Given the description of an element on the screen output the (x, y) to click on. 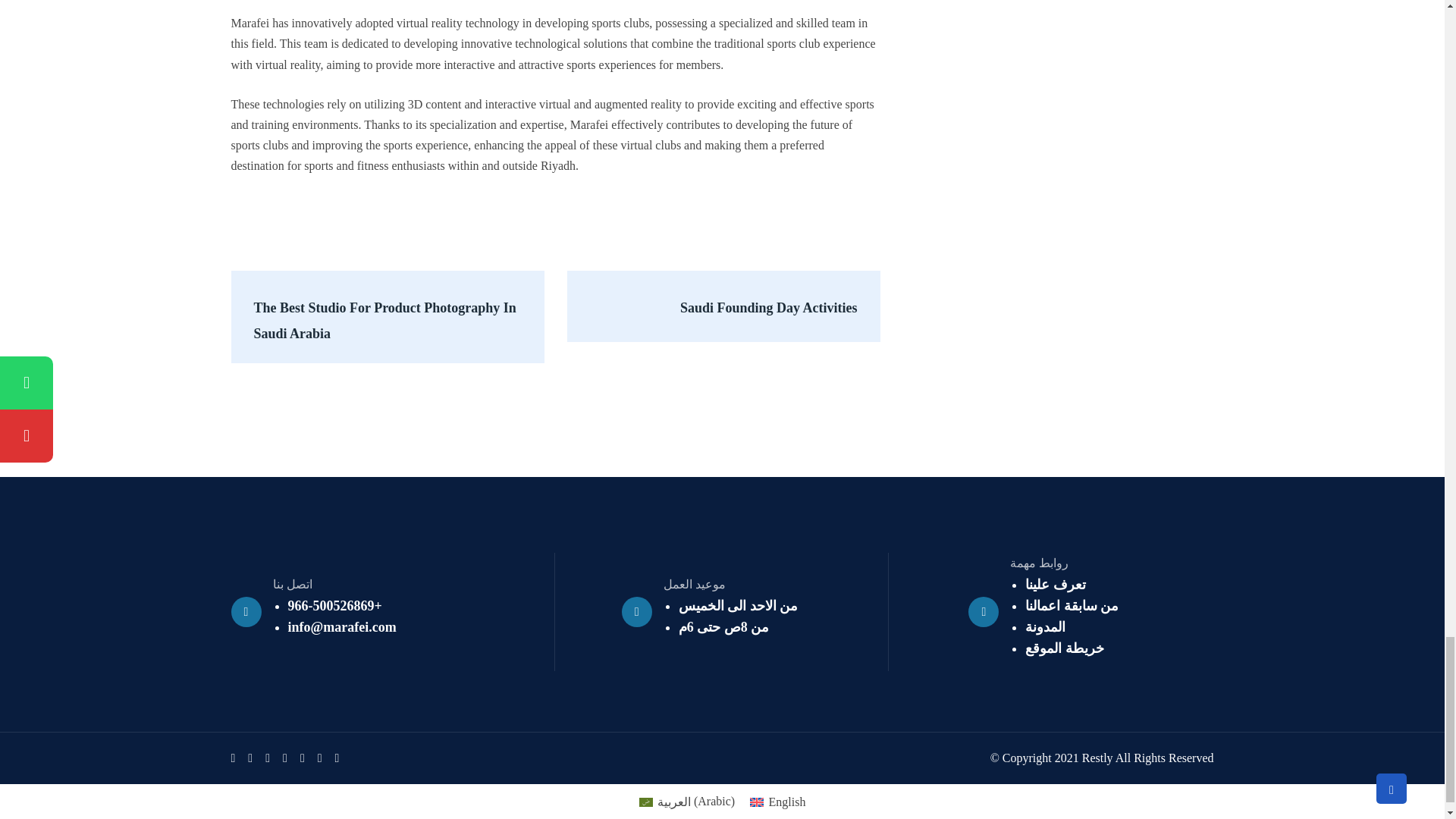
Saudi Founding Day Activities (723, 306)
The Best Studio For Product Photography In Saudi Arabia (386, 317)
